Given the description of an element on the screen output the (x, y) to click on. 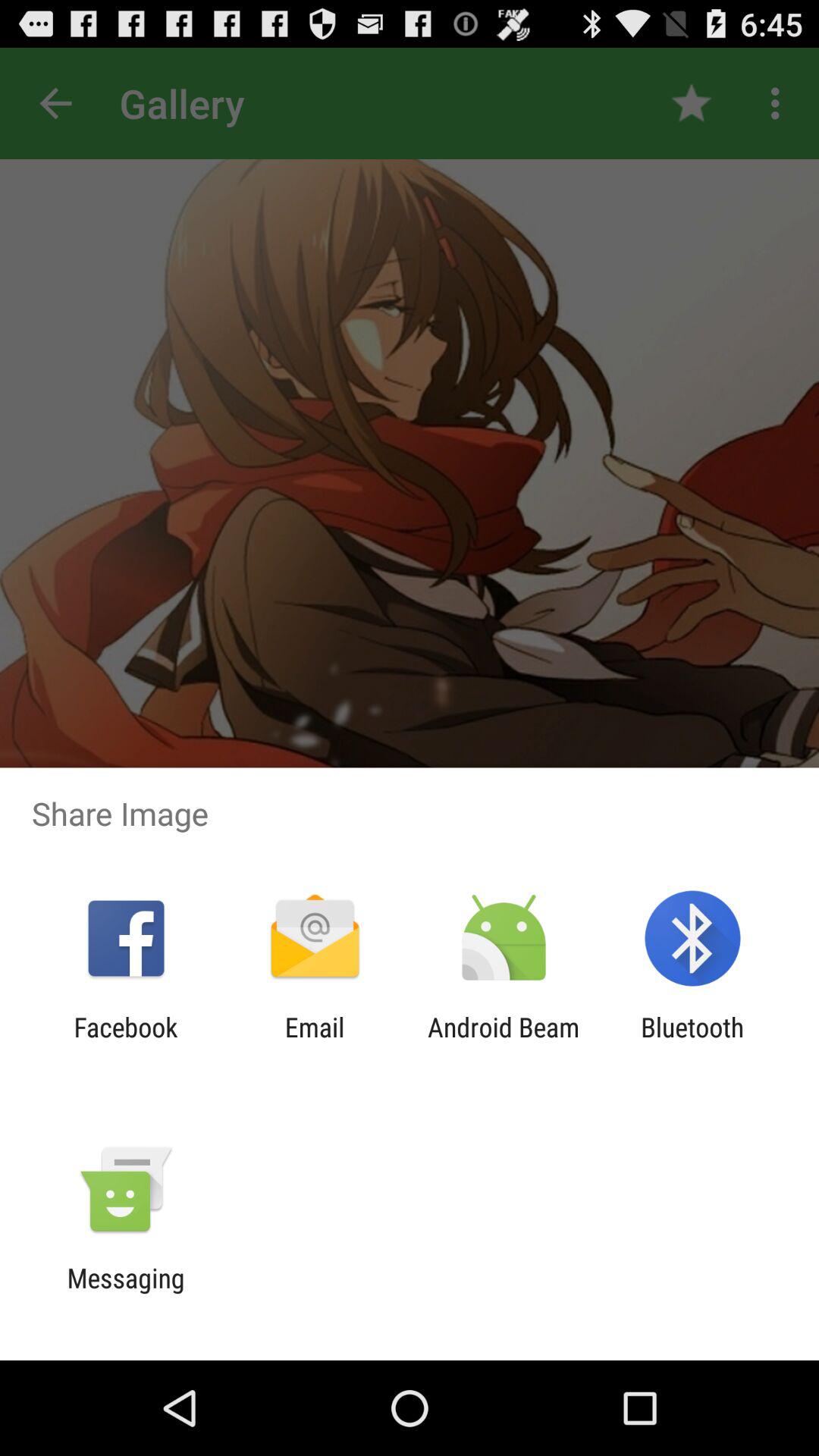
tap item to the right of facebook item (314, 1042)
